Given the description of an element on the screen output the (x, y) to click on. 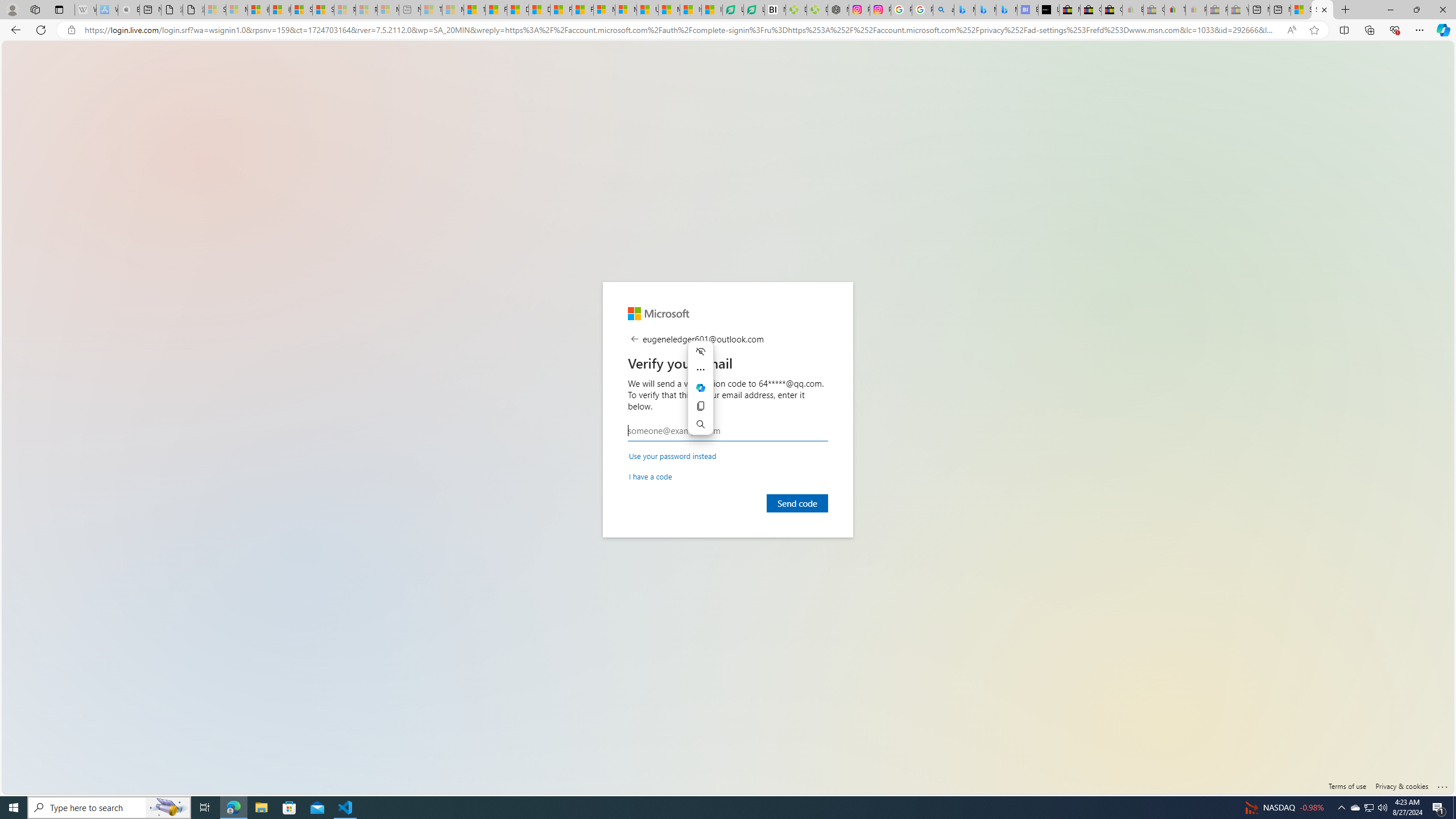
Microsoft account | Account Checkup - Sleeping (387, 9)
Mini menu on text selection (700, 394)
Nordace - Nordace Edin Collection (837, 9)
Buy iPad - Apple - Sleeping (128, 9)
I have a code (650, 475)
Use your password instead (672, 455)
Nvidia va a poner a prueba la paciencia de los inversores (775, 9)
Mini menu on text selection (700, 387)
